Given the description of an element on the screen output the (x, y) to click on. 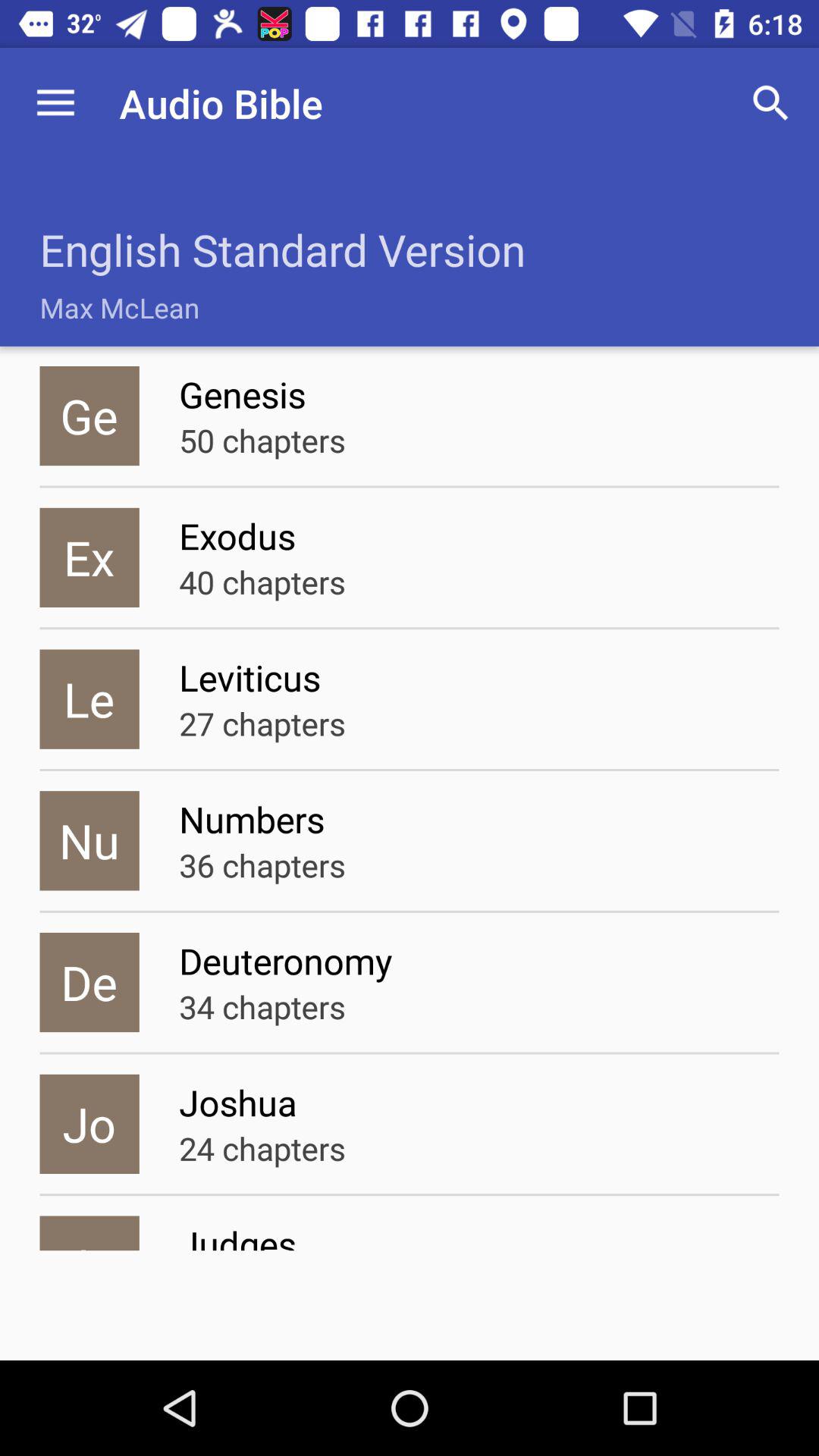
open the 24 chapters item (262, 1147)
